Given the description of an element on the screen output the (x, y) to click on. 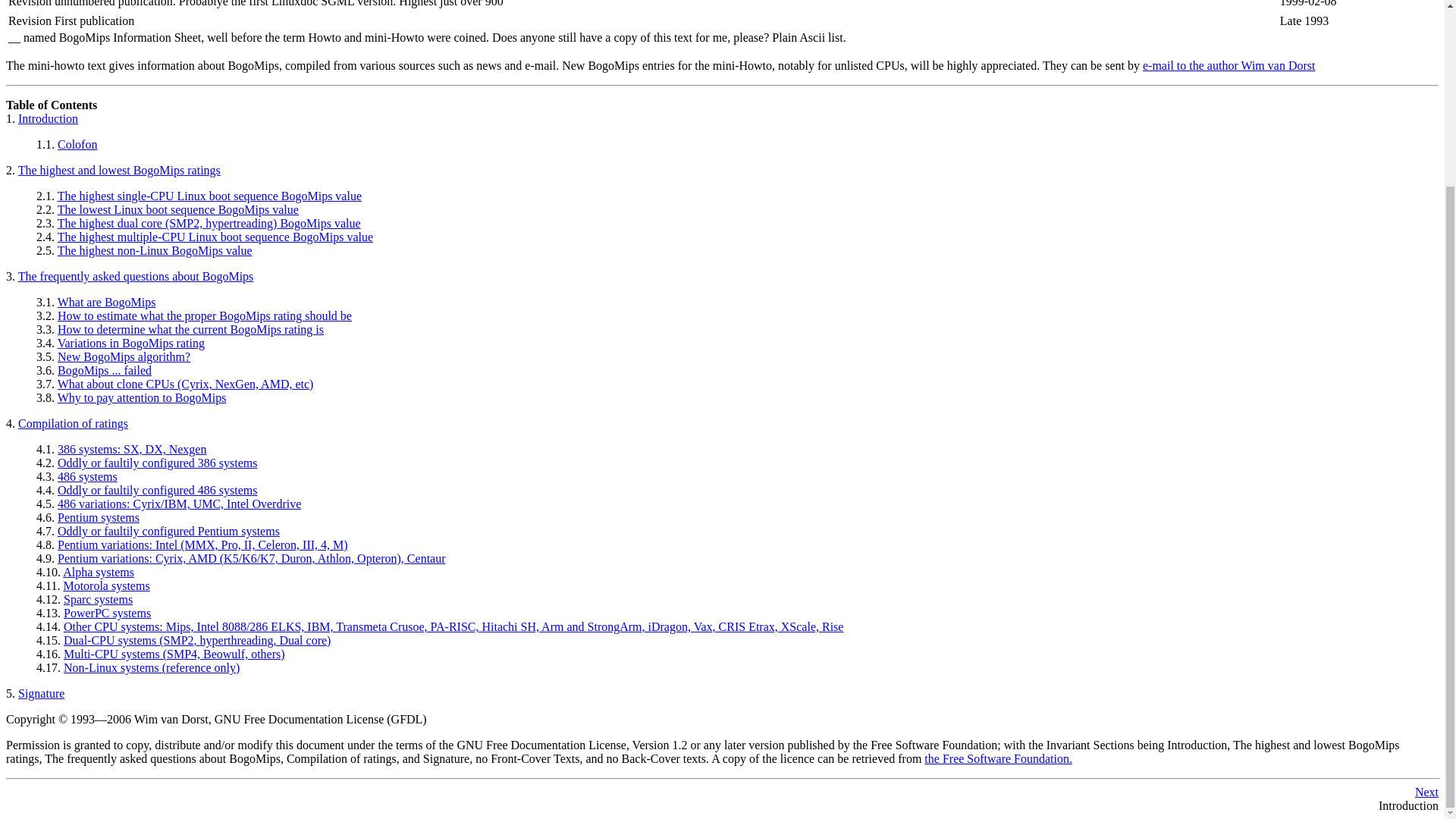
Pentium systems (98, 517)
The frequently asked questions about BogoMips (135, 276)
How to determine what the current BogoMips rating is (190, 328)
Alpha systems (97, 571)
e-mail to the author Wim van Dorst (1228, 65)
The highest non-Linux BogoMips value (154, 250)
The lowest Linux boot sequence BogoMips value (178, 209)
The highest multiple-CPU Linux boot sequence BogoMips value (215, 236)
Oddly or faultily configured 386 systems (157, 462)
Why to pay attention to BogoMips (142, 397)
Compilation of ratings (72, 422)
Oddly or faultily configured Pentium systems (168, 530)
486 systems (87, 476)
The highest single-CPU Linux boot sequence BogoMips value (209, 195)
Sparc systems (98, 599)
